Given the description of an element on the screen output the (x, y) to click on. 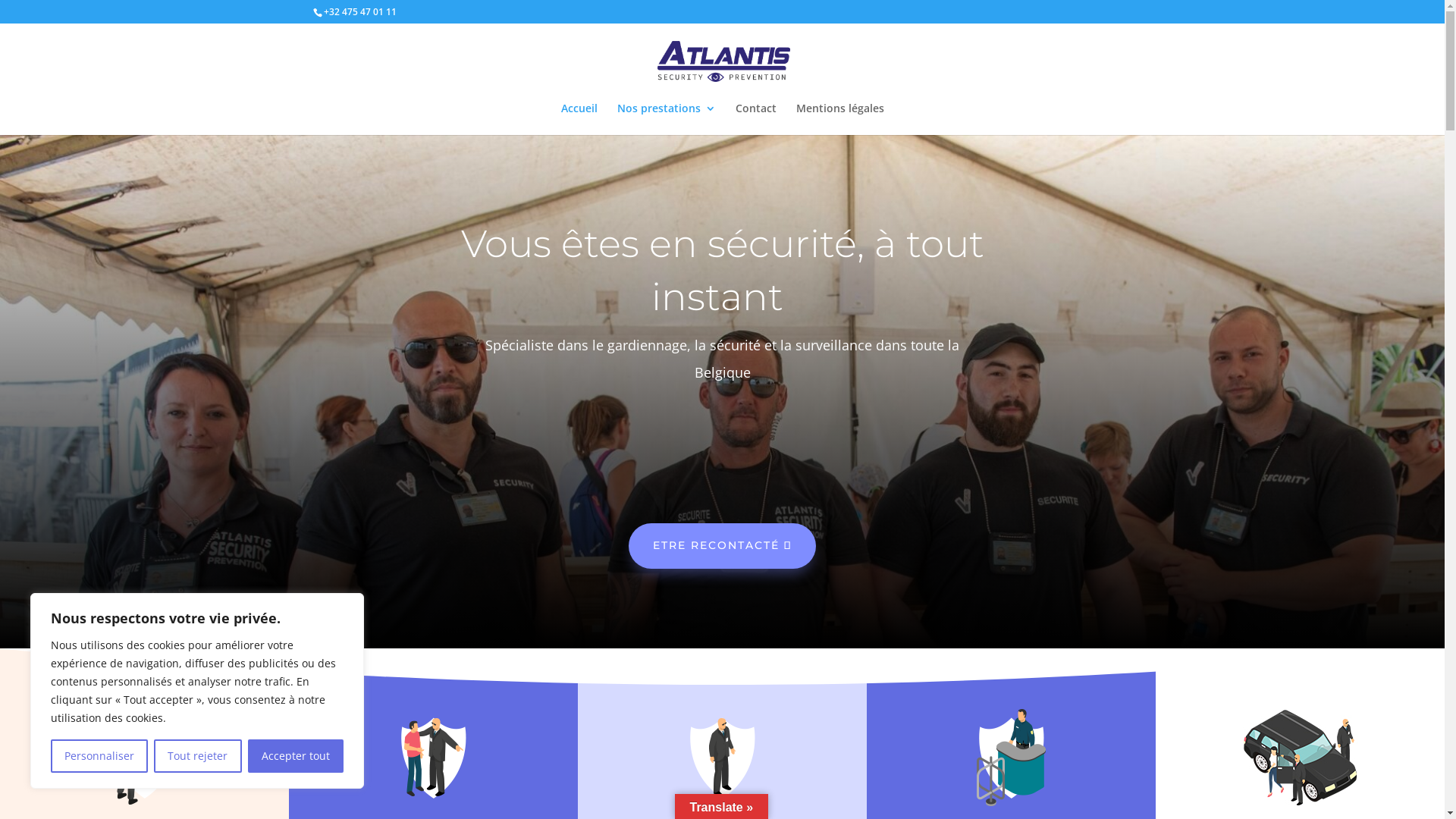
Accepter tout Element type: text (295, 755)
Tout rejeter Element type: text (197, 755)
Accueil Element type: text (579, 118)
Contact Element type: text (755, 118)
Personnaliser Element type: text (98, 755)
Nos prestations Element type: text (666, 118)
